Given the description of an element on the screen output the (x, y) to click on. 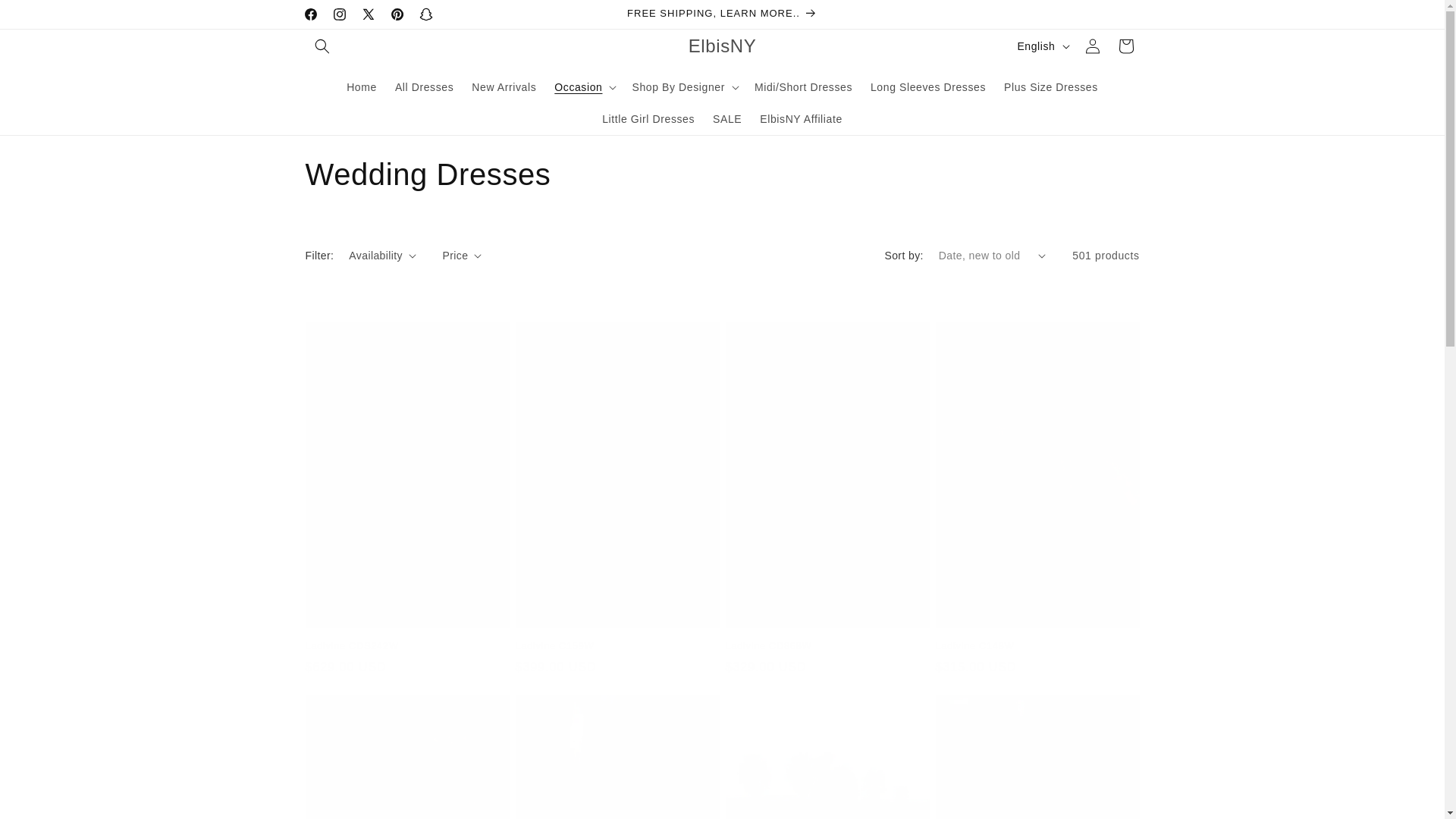
FREE SHIPPING, LEARN MORE.. (721, 14)
Instagram (338, 14)
Skip to content (45, 17)
Pinterest (395, 14)
Facebook (309, 14)
Snapchat (721, 173)
